Given the description of an element on the screen output the (x, y) to click on. 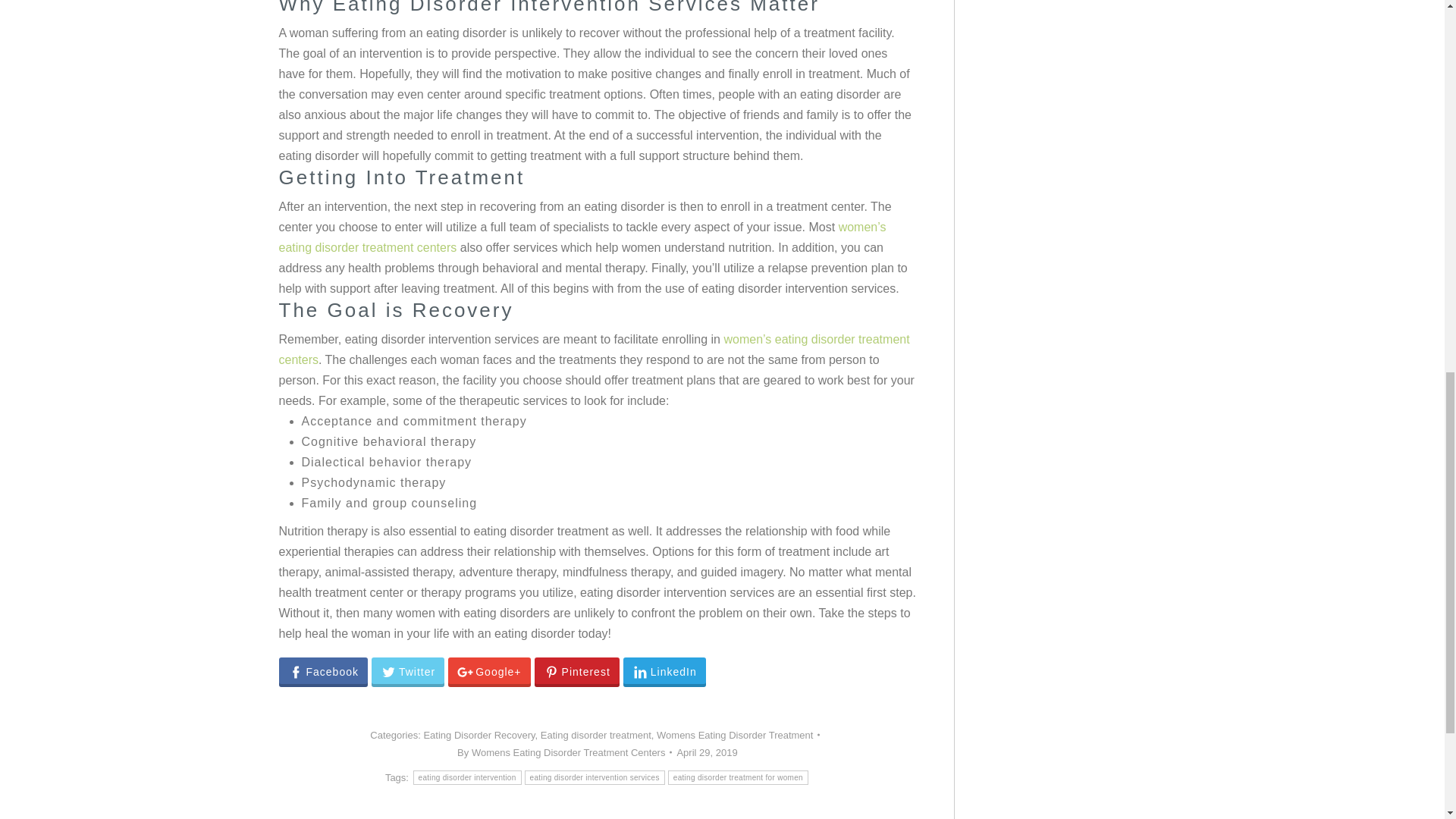
Eating Disorder Recovery (478, 735)
Pinterest (577, 672)
9:00 am (706, 752)
Womens Eating Disorder Treatment (734, 735)
LinkedIn (664, 672)
Facebook (323, 672)
Eating disorder treatment (595, 735)
eating disorder intervention services (594, 777)
View all posts by Womens Eating Disorder Treatment Centers (564, 752)
April 29, 2019 (706, 752)
Twitter (407, 672)
By Womens Eating Disorder Treatment Centers (564, 752)
eating disorder intervention (467, 777)
eating disorder treatment for women (738, 777)
